Given the description of an element on the screen output the (x, y) to click on. 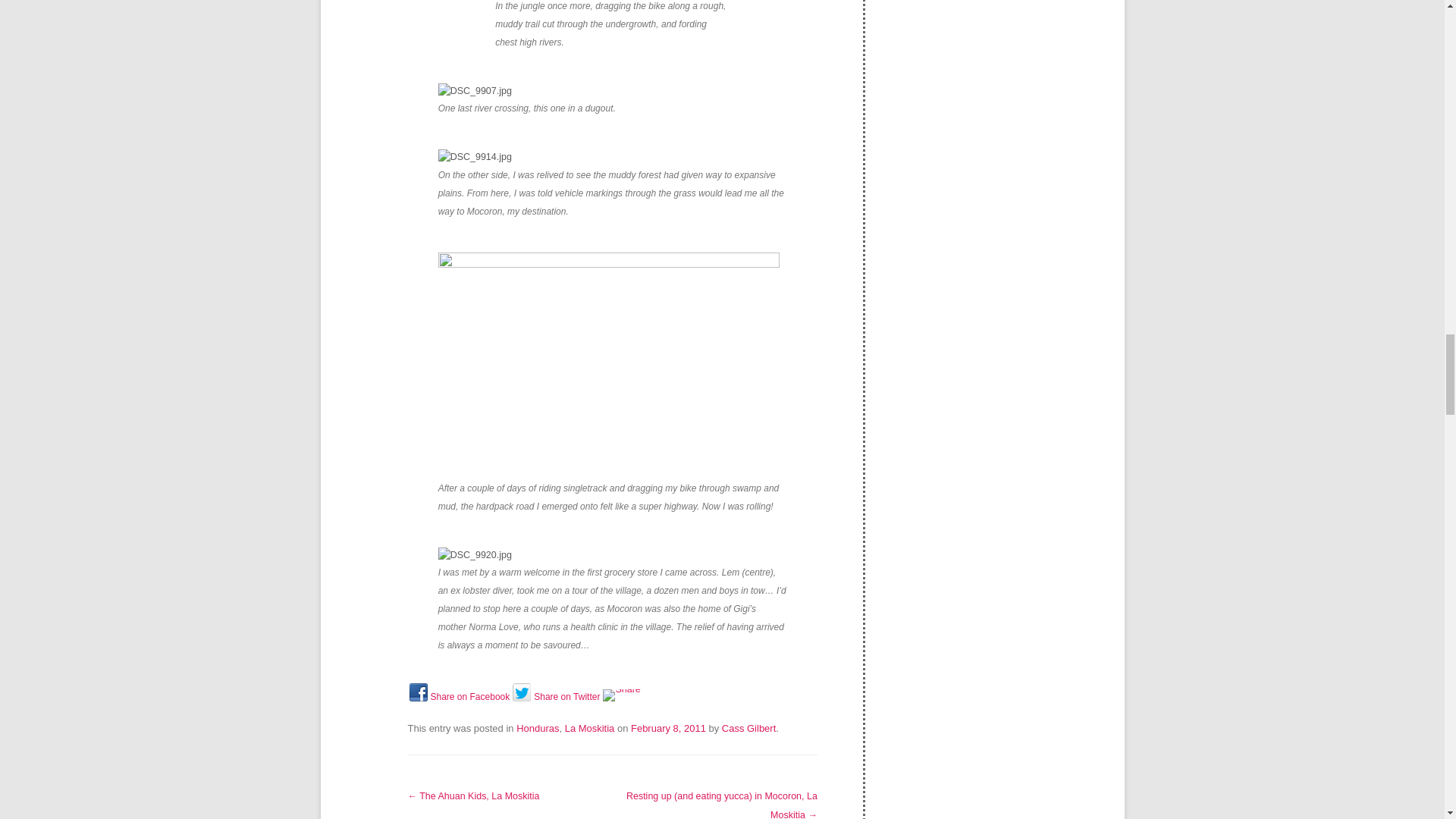
Share on Twitter (555, 701)
Honduras (537, 727)
La Moskitia (589, 727)
Share on Facebook (460, 701)
February 8, 2011 (668, 727)
Cass Gilbert (749, 727)
